Given the description of an element on the screen output the (x, y) to click on. 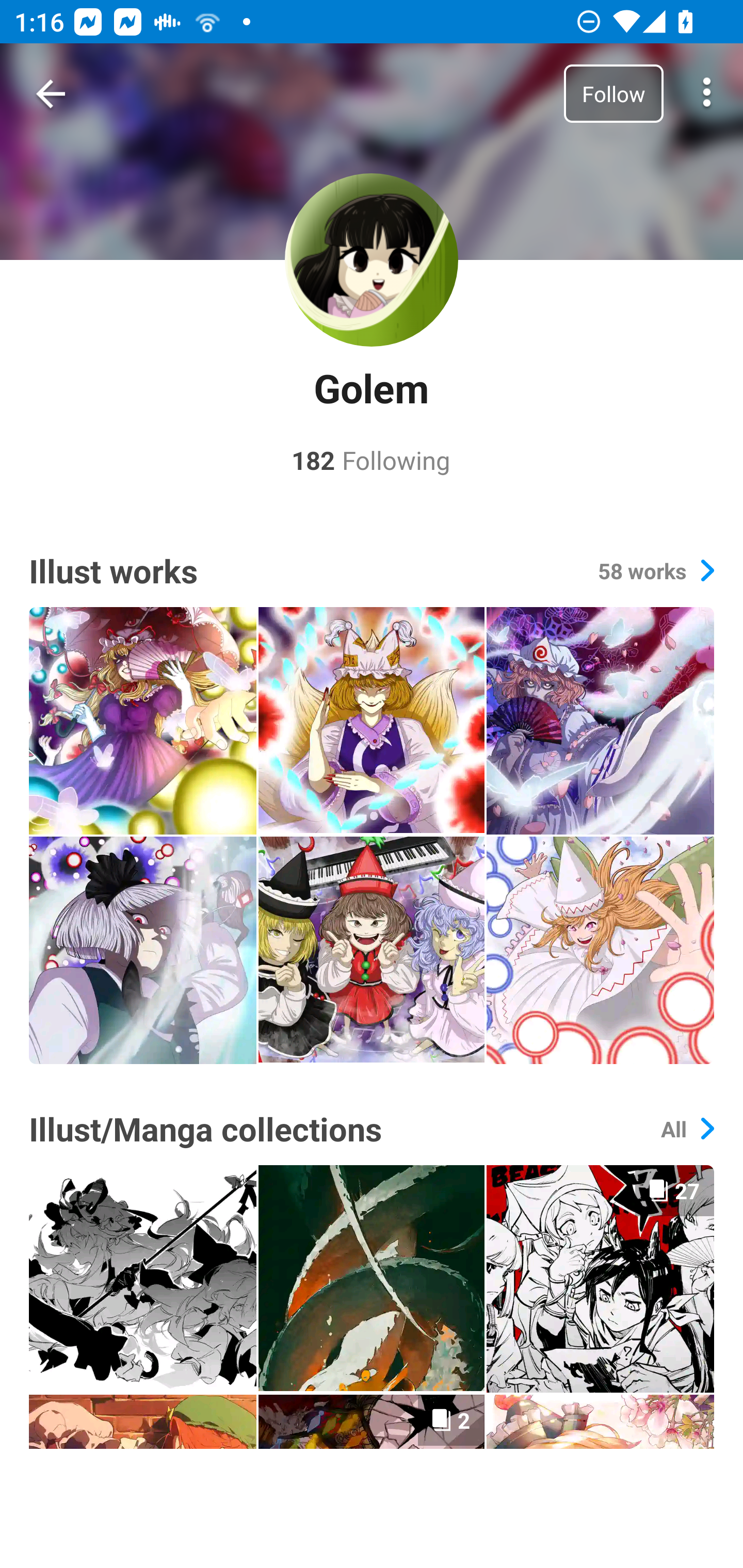
Navigate up (50, 93)
More options (706, 93)
Follow (613, 93)
182 Following (371, 459)
58 works (656, 570)
All (687, 1128)
27 (600, 1278)
